Given the description of an element on the screen output the (x, y) to click on. 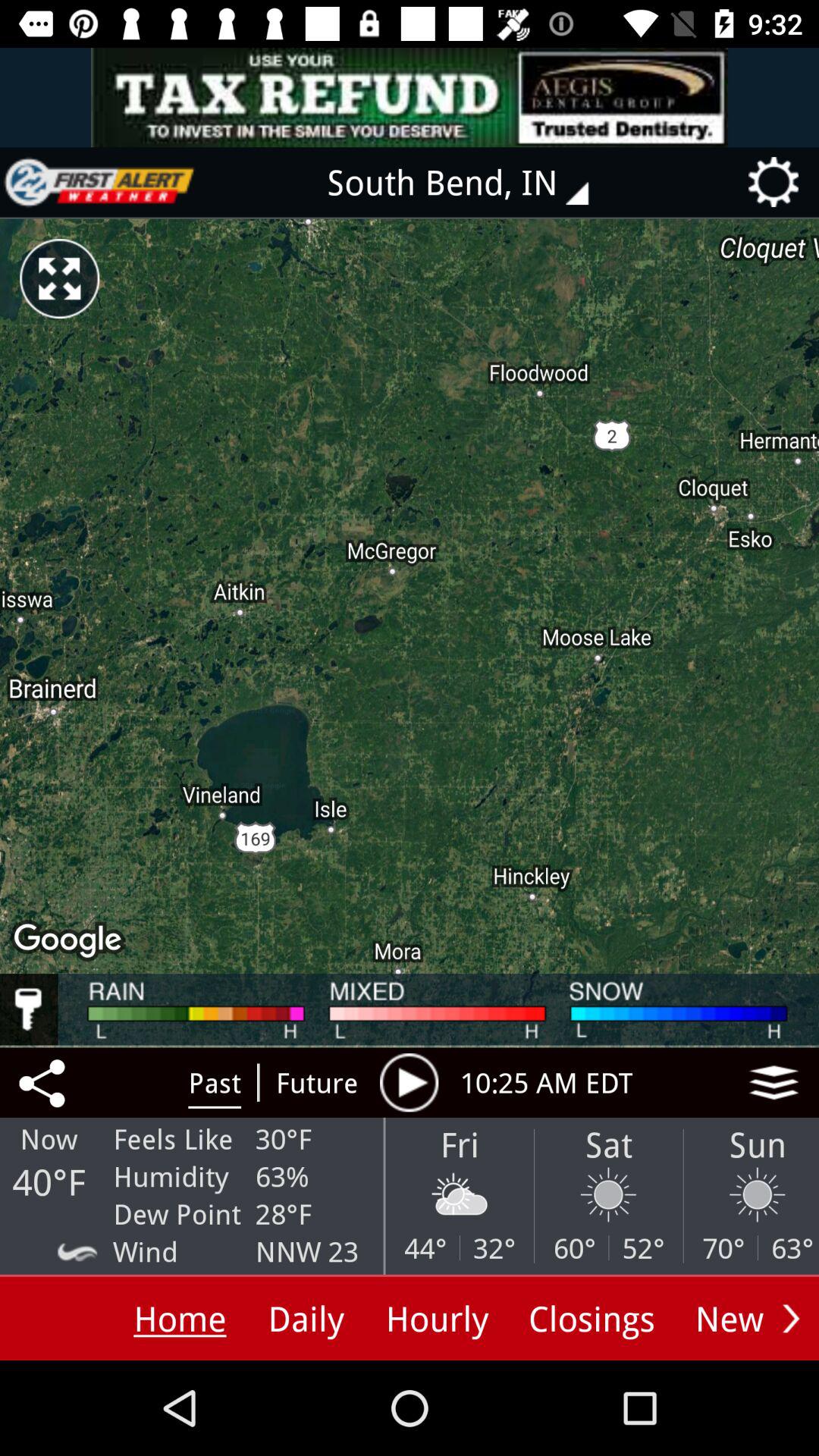
show weather evolution (409, 1082)
